Given the description of an element on the screen output the (x, y) to click on. 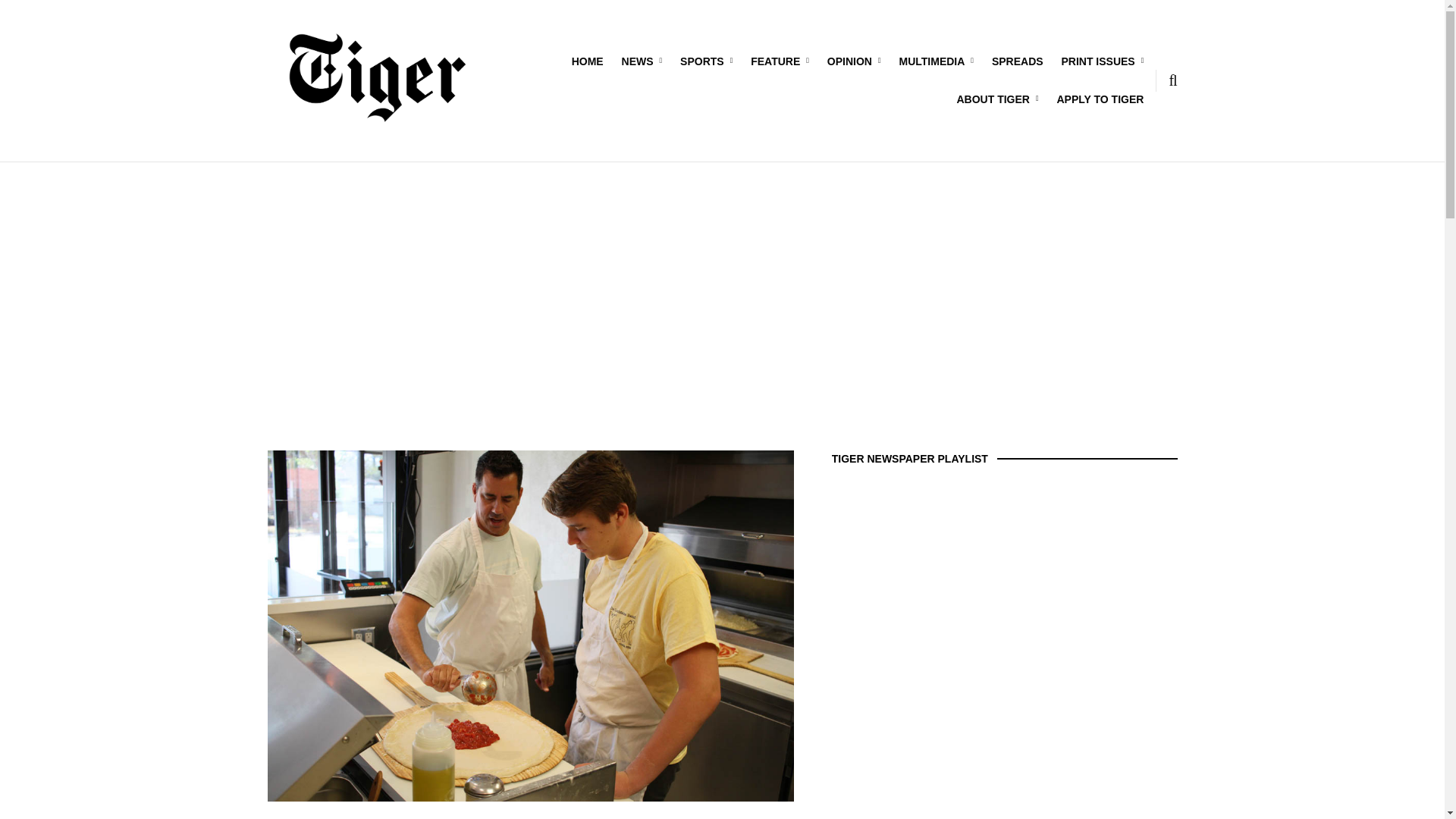
NEWS (641, 61)
HOME (588, 61)
SPORTS (705, 61)
